Given the description of an element on the screen output the (x, y) to click on. 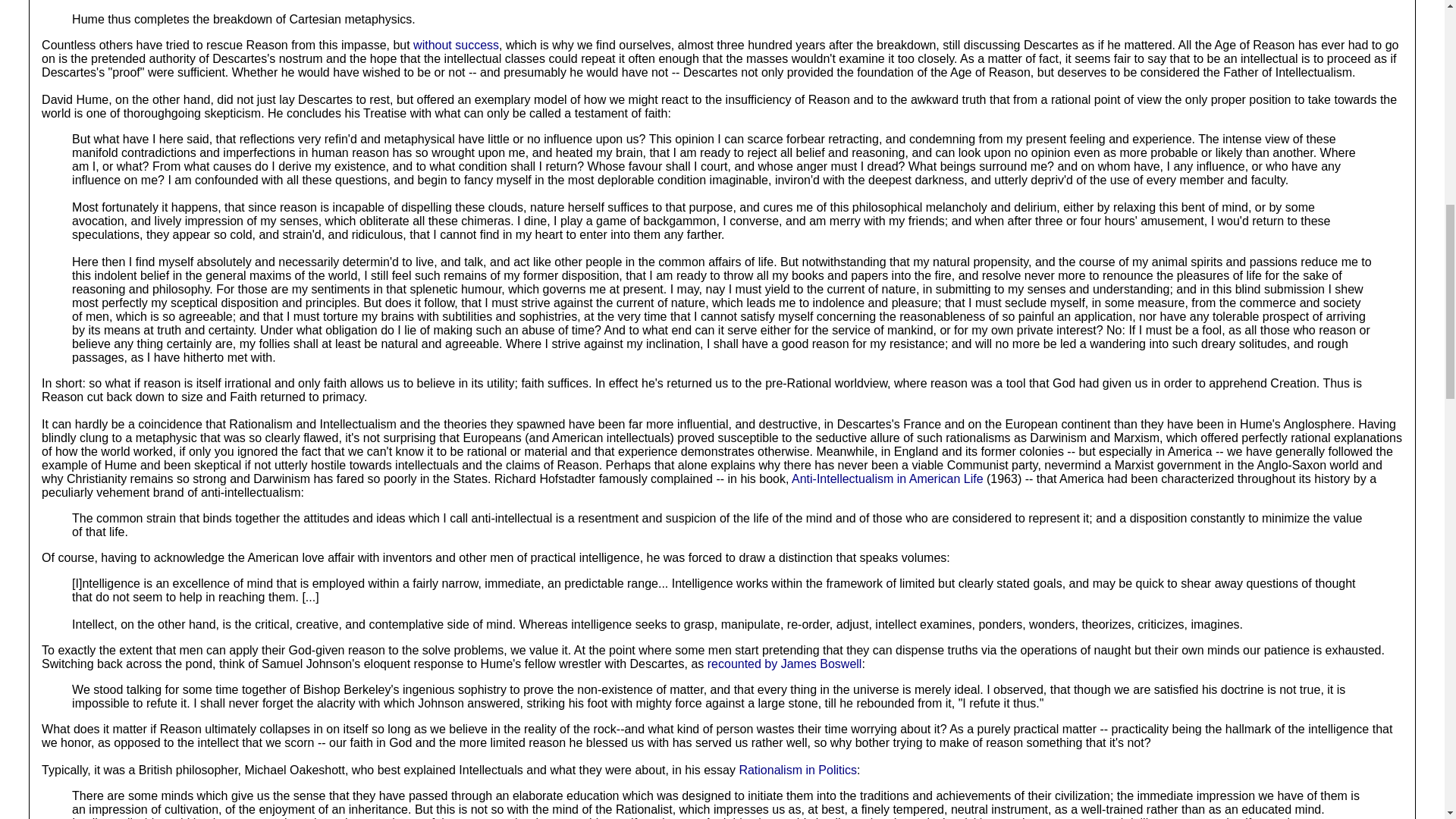
Rationalism in Politics (797, 769)
Anti-Intellectualism in American Life (888, 478)
recounted by James Boswell (784, 663)
without success (456, 44)
